Given the description of an element on the screen output the (x, y) to click on. 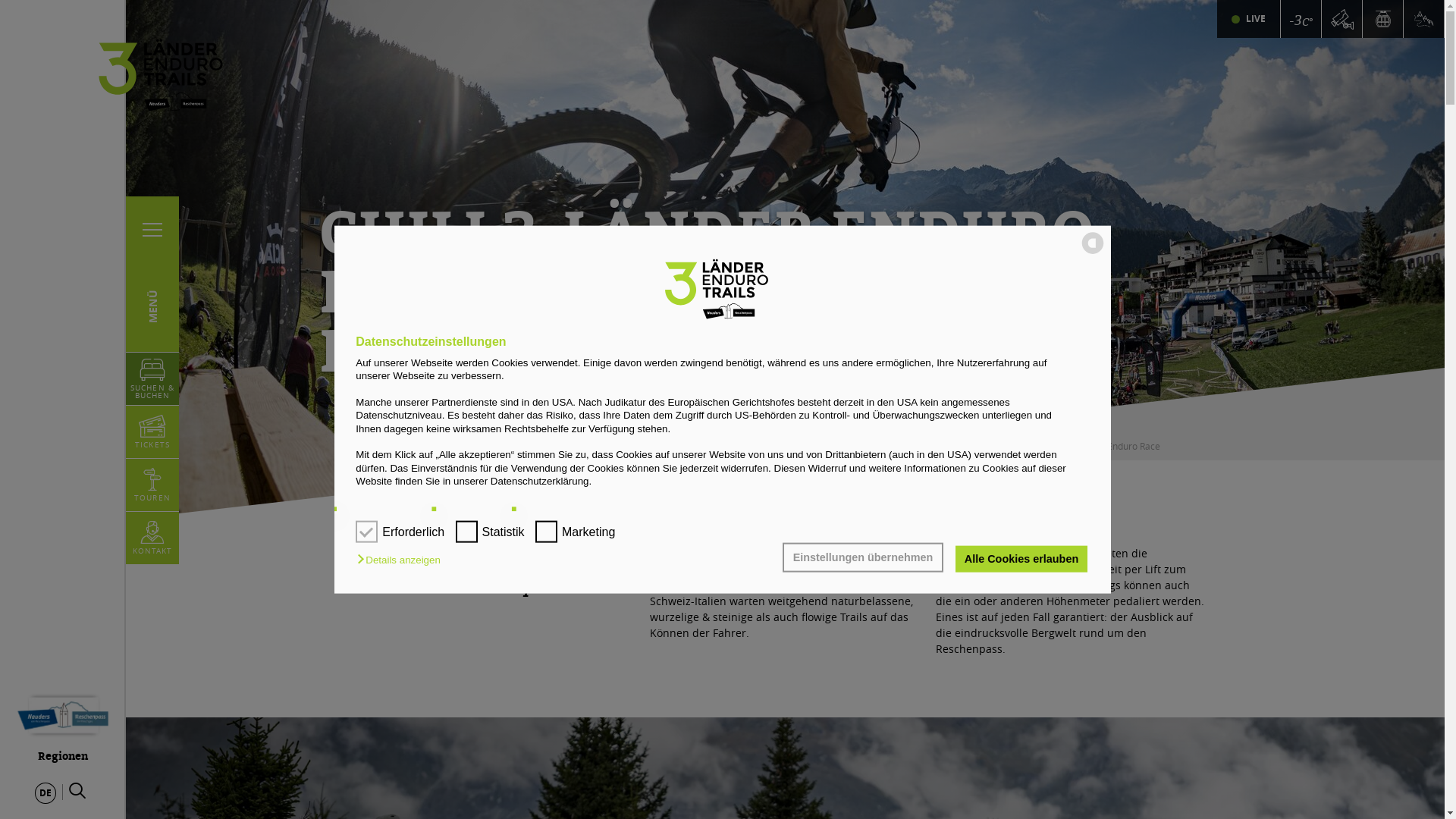
Startseite Element type: text (1030, 445)
Regionen Element type: text (62, 722)
DE Element type: text (45, 792)
Details anzeigen Element type: text (401, 560)
Gondel Element type: hover (1382, 18)
TOUREN Element type: text (152, 484)
Enduro Trails Element type: hover (1423, 18)
powered by Datareporter Element type: hover (1092, 252)
Webcam Element type: hover (1341, 19)
SUCHEN & BUCHEN Element type: text (151, 378)
TICKETS Element type: text (151, 431)
KONTAKT Element type: text (152, 537)
Enduro Rennen pur rund um den Reschenpass! Element type: text (0, 0)
Alle Cookies erlauben Element type: text (1020, 558)
